Given the description of an element on the screen output the (x, y) to click on. 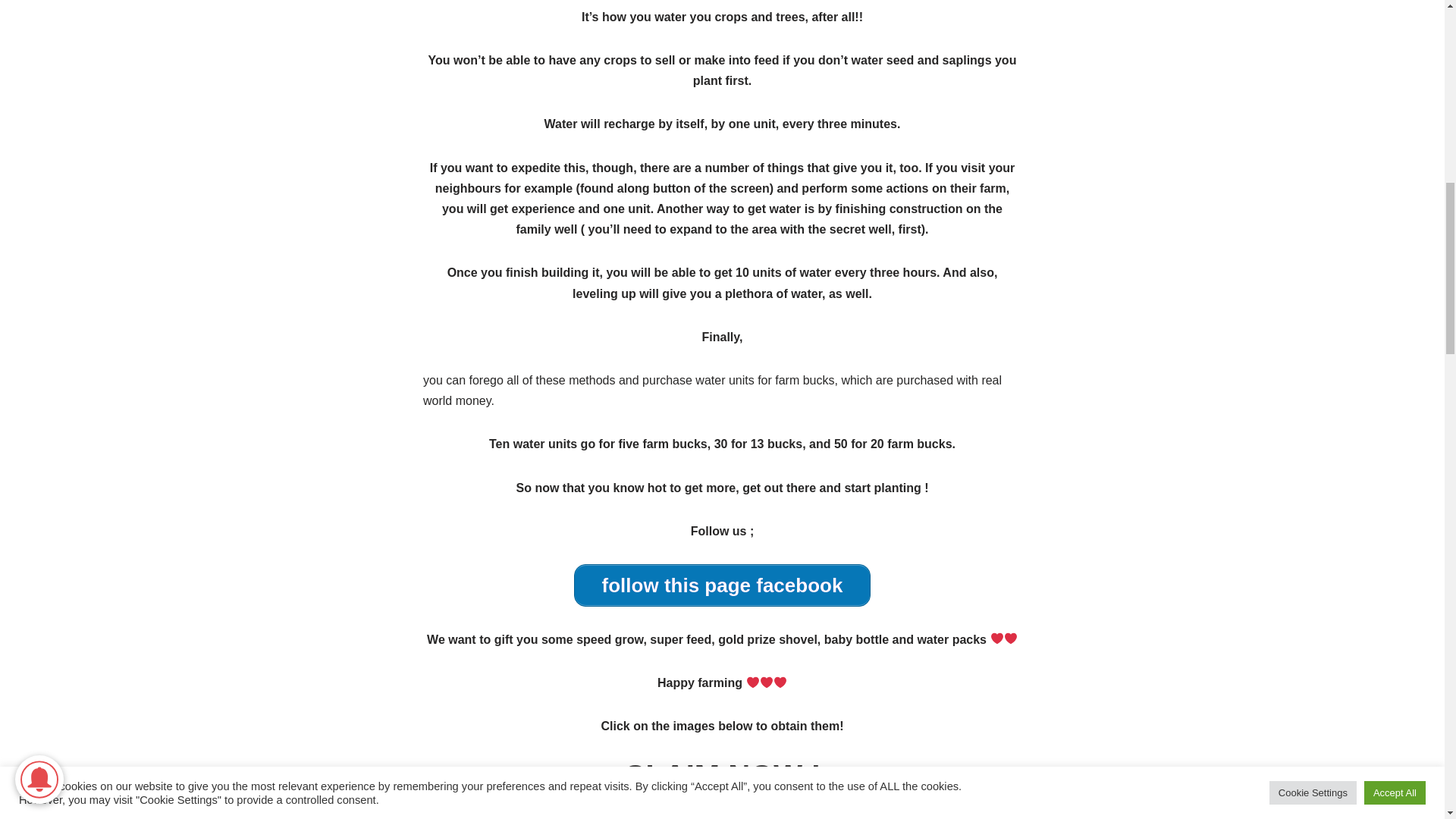
follow this page facebook (721, 585)
